Given the description of an element on the screen output the (x, y) to click on. 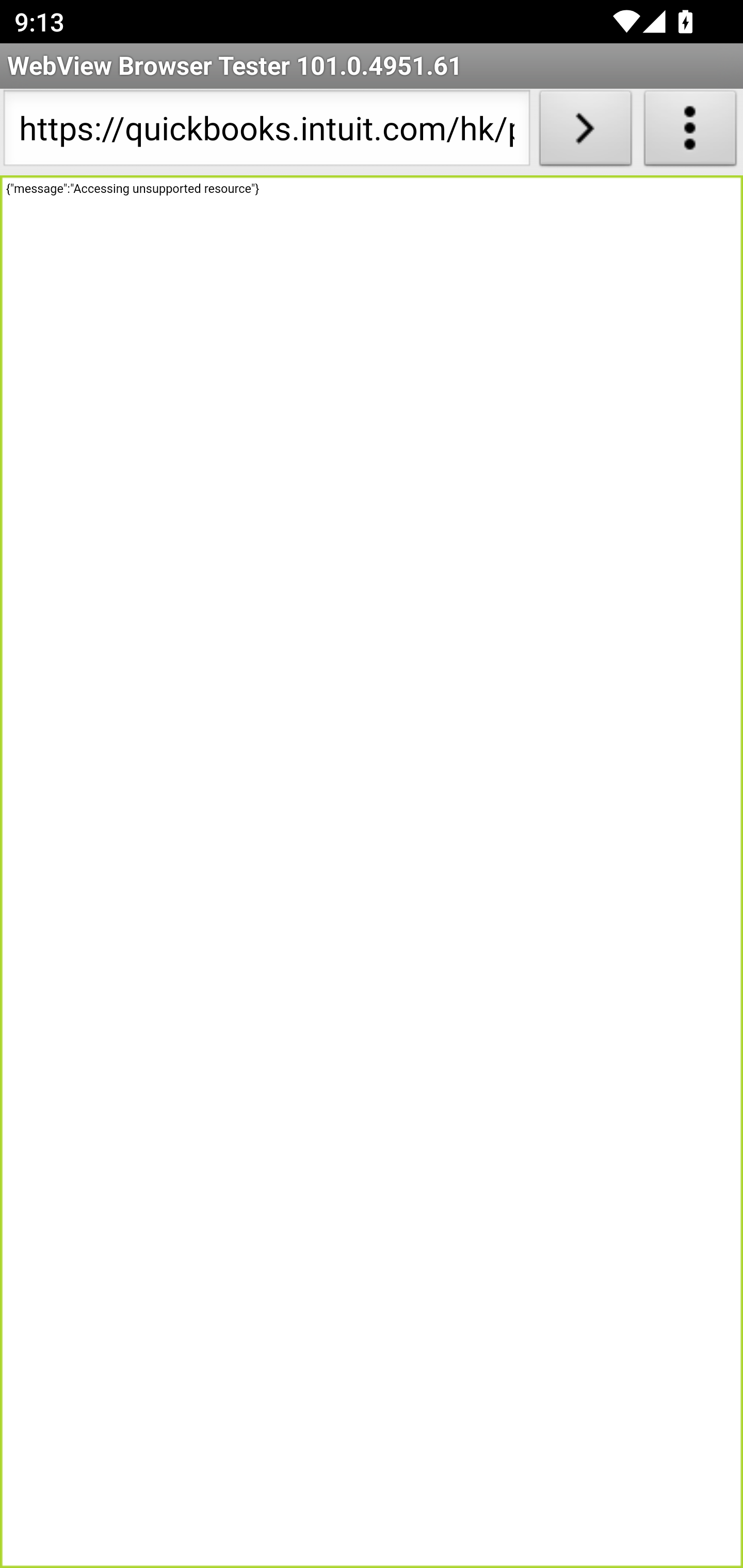
Load URL (585, 132)
About WebView (690, 132)
